Given the description of an element on the screen output the (x, y) to click on. 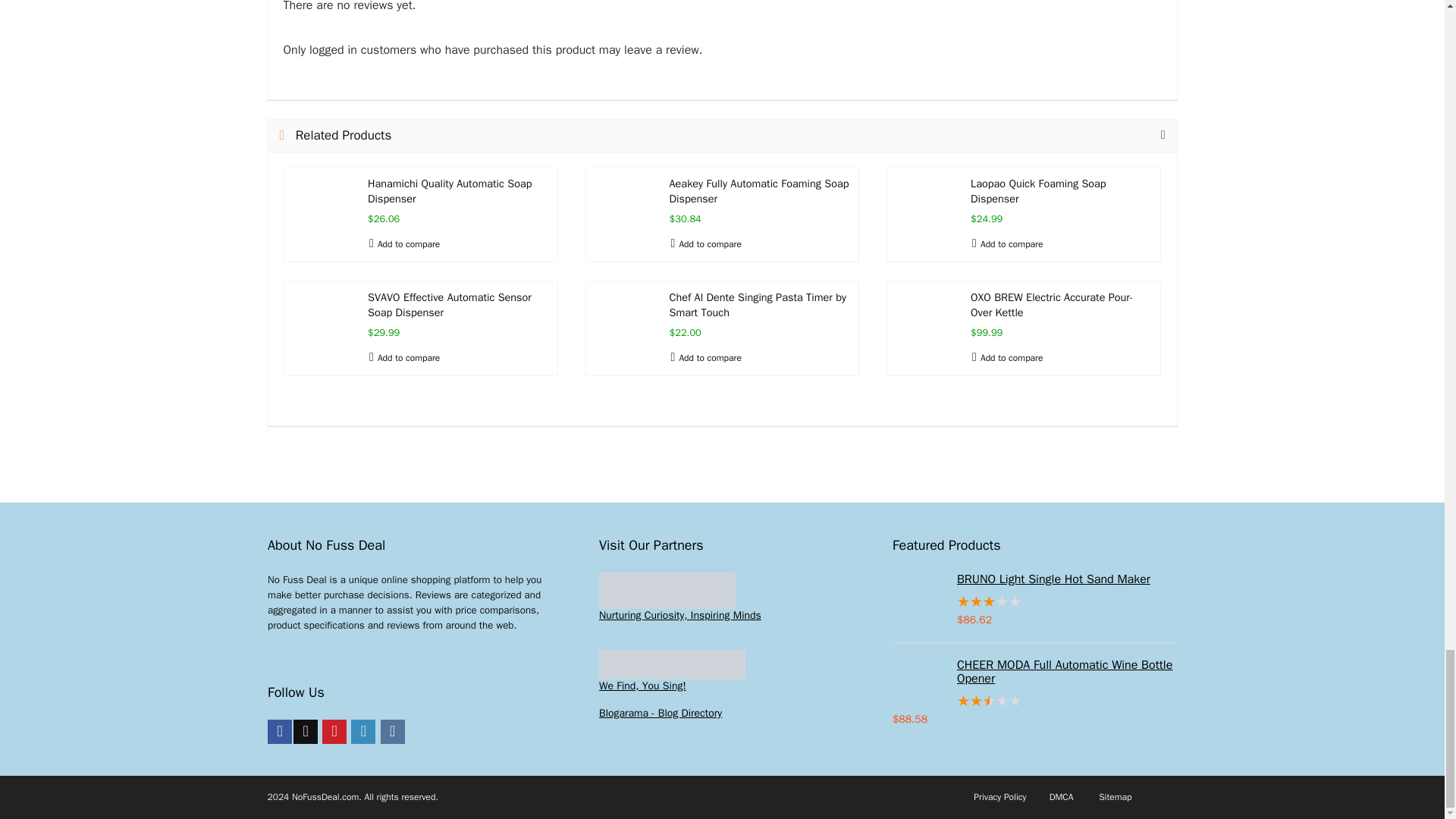
Rated 3.08 out of 5 (1034, 601)
Blogarama.com - Follow me on Blogarama (660, 712)
Rated 2.6 out of 5 (1034, 701)
